Given the description of an element on the screen output the (x, y) to click on. 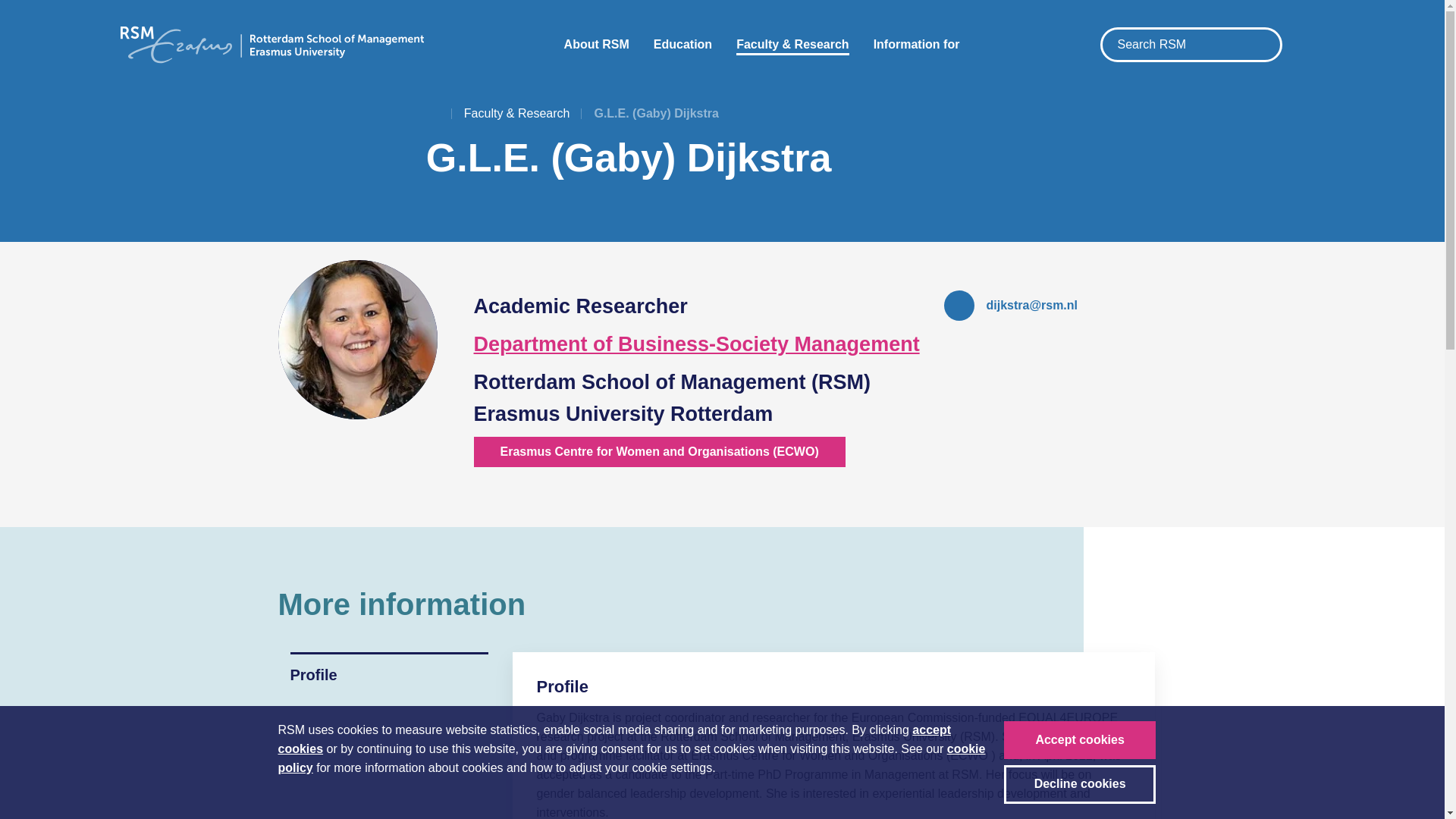
About RSM (596, 44)
Profile (388, 668)
Rotterdam School of Management, Erasmus University (271, 44)
Go to Home (434, 113)
